Given the description of an element on the screen output the (x, y) to click on. 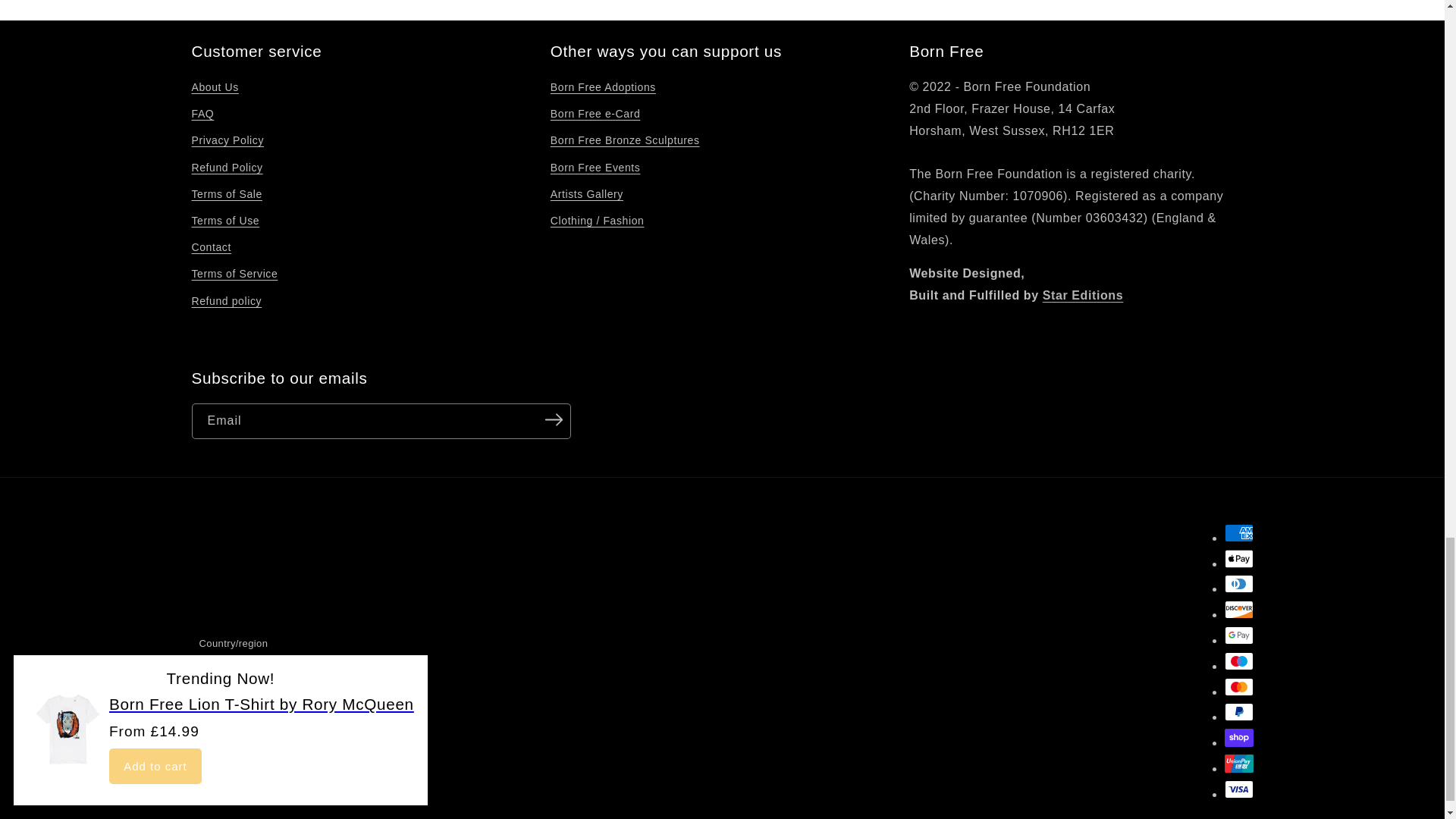
American Express (1238, 533)
Diners Club (1238, 583)
Apple Pay (1238, 558)
